Given the description of an element on the screen output the (x, y) to click on. 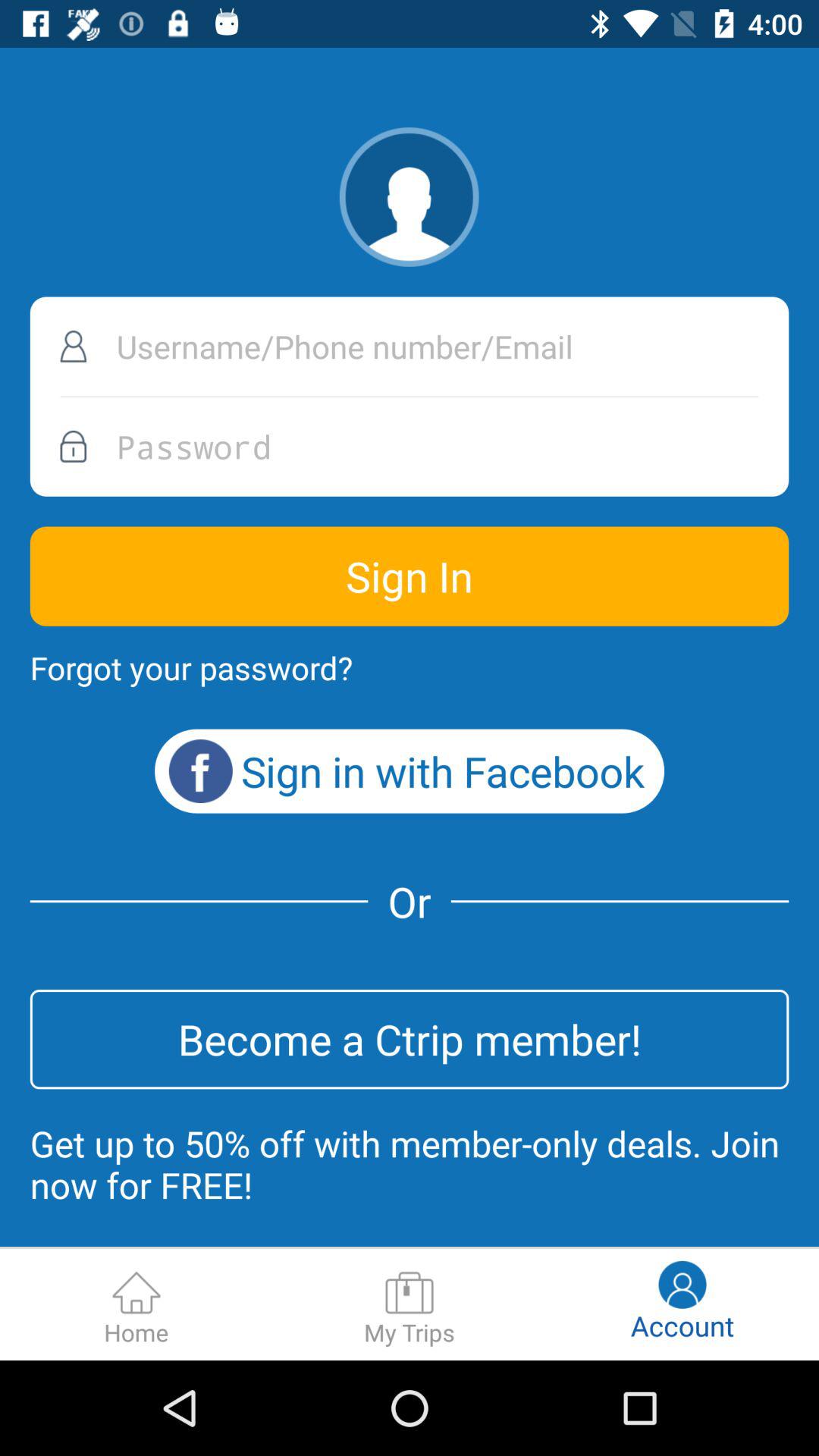
insert the login (409, 346)
